Given the description of an element on the screen output the (x, y) to click on. 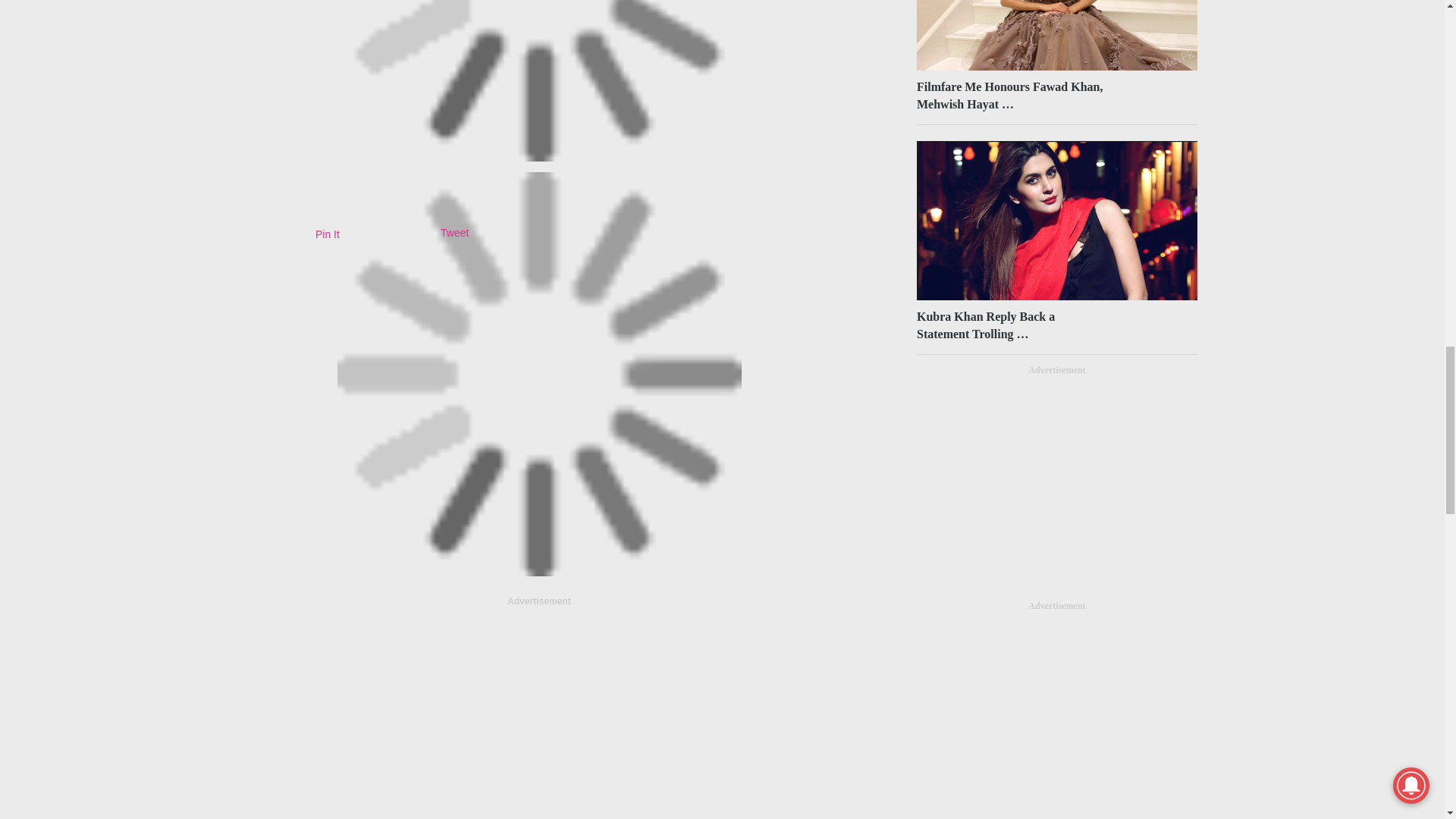
Advertisement (539, 714)
